Given the description of an element on the screen output the (x, y) to click on. 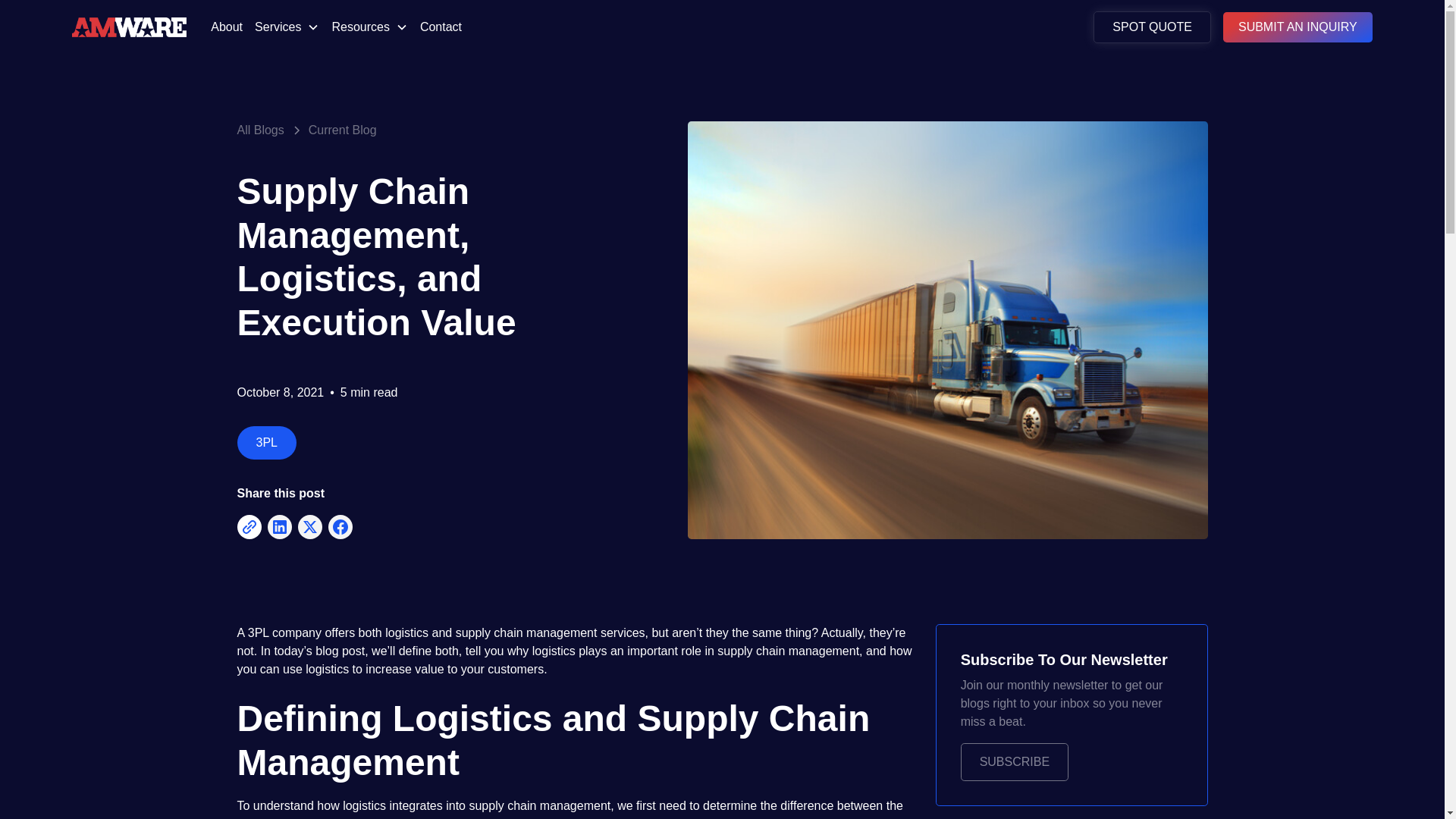
SUBSCRIBE (1014, 761)
Current Blog (342, 130)
About (226, 27)
Contact (440, 27)
SPOT QUOTE (1152, 27)
SUBMIT AN INQUIRY (1298, 27)
All Blogs (259, 130)
